Given the description of an element on the screen output the (x, y) to click on. 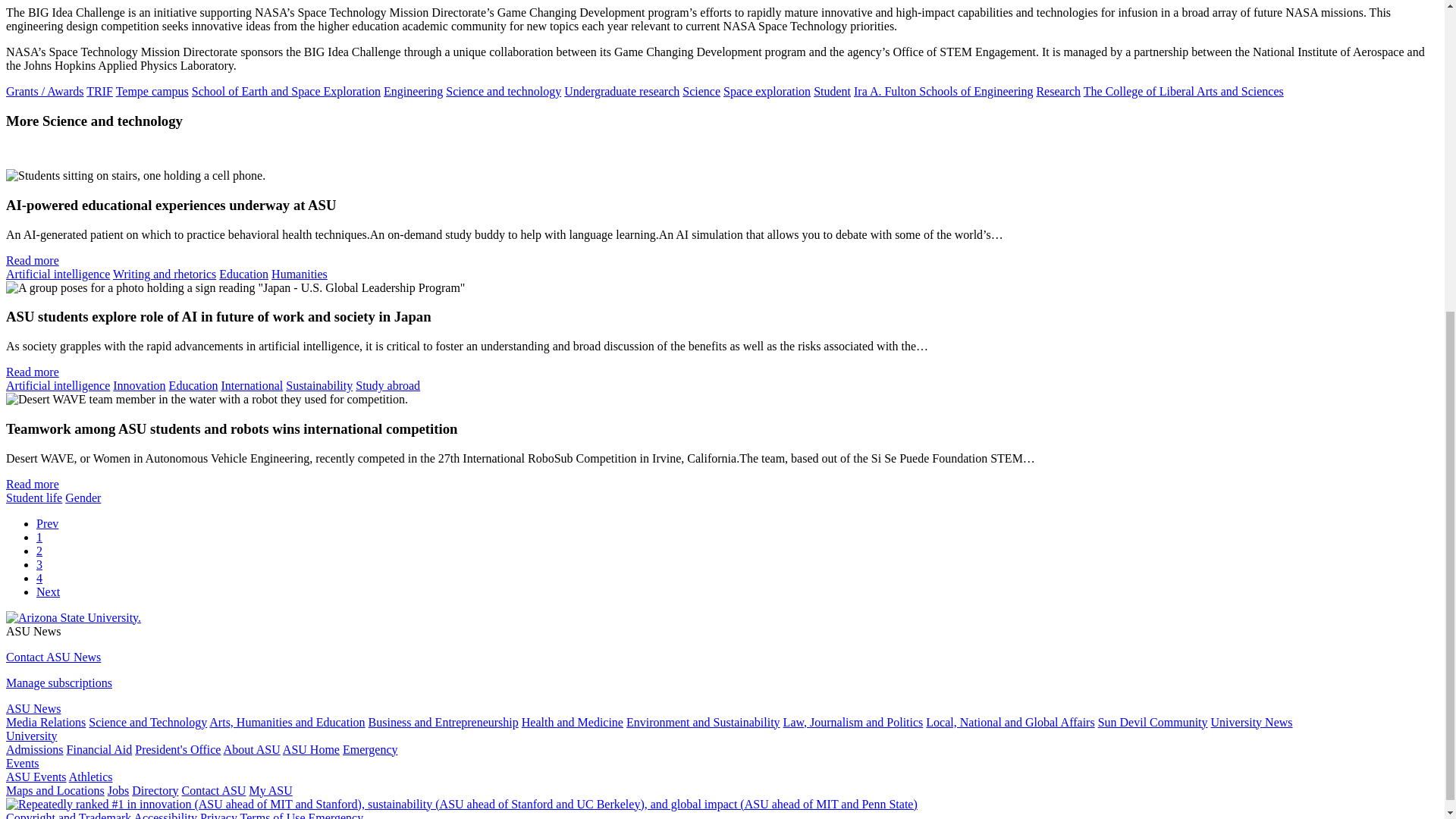
The College of Liberal Arts and Sciences (1183, 91)
Science and technology (502, 91)
Writing and rhetorics (164, 273)
Science (701, 91)
Student (831, 91)
Artificial intelligence (57, 273)
International (251, 385)
Sustainability (318, 385)
Read more (32, 259)
Education (193, 385)
